Given the description of an element on the screen output the (x, y) to click on. 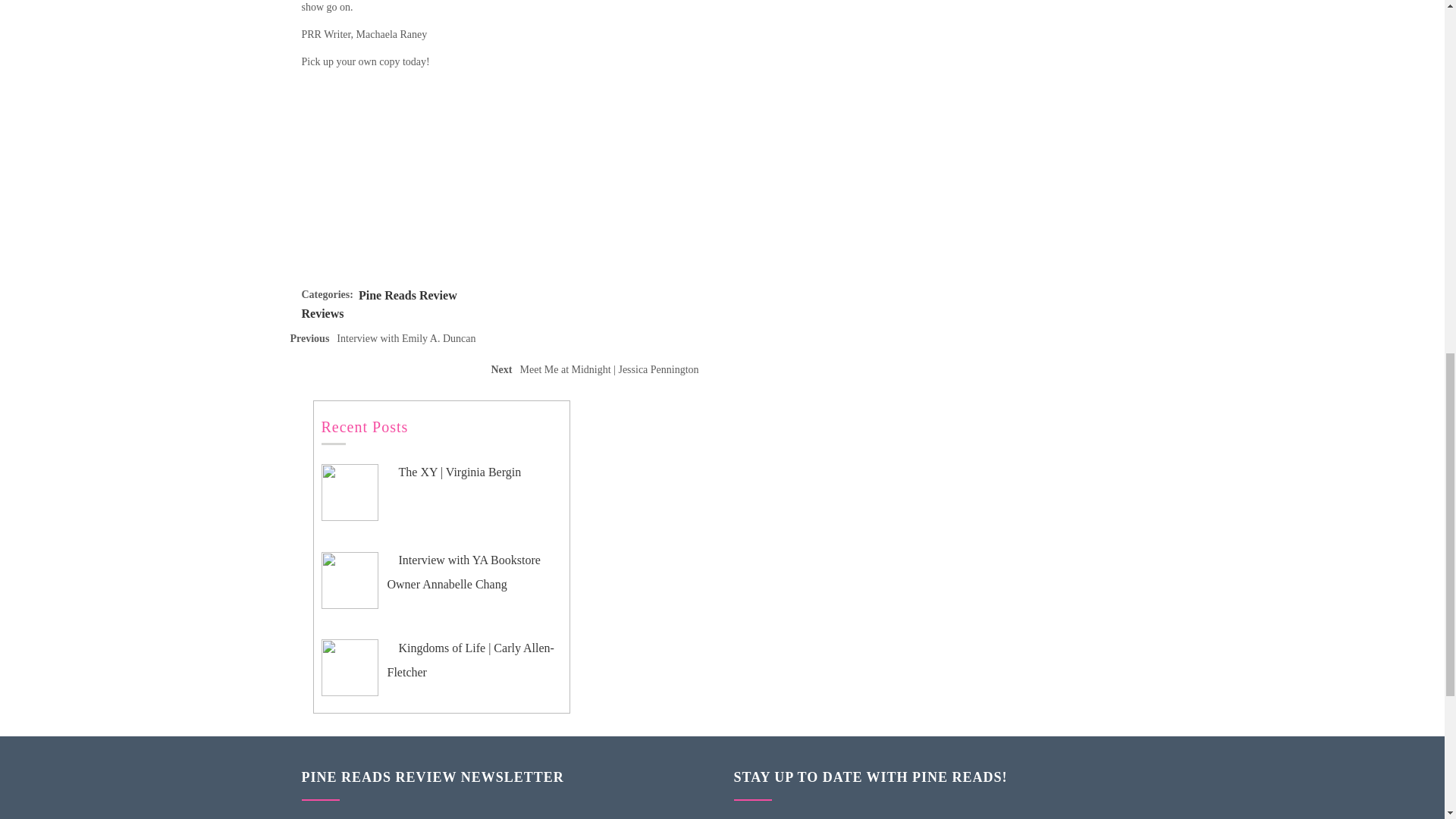
Reviews (322, 313)
Pine Reads Review (407, 295)
Interview with YA Bookstore Owner Annabelle Chang (463, 571)
